Given the description of an element on the screen output the (x, y) to click on. 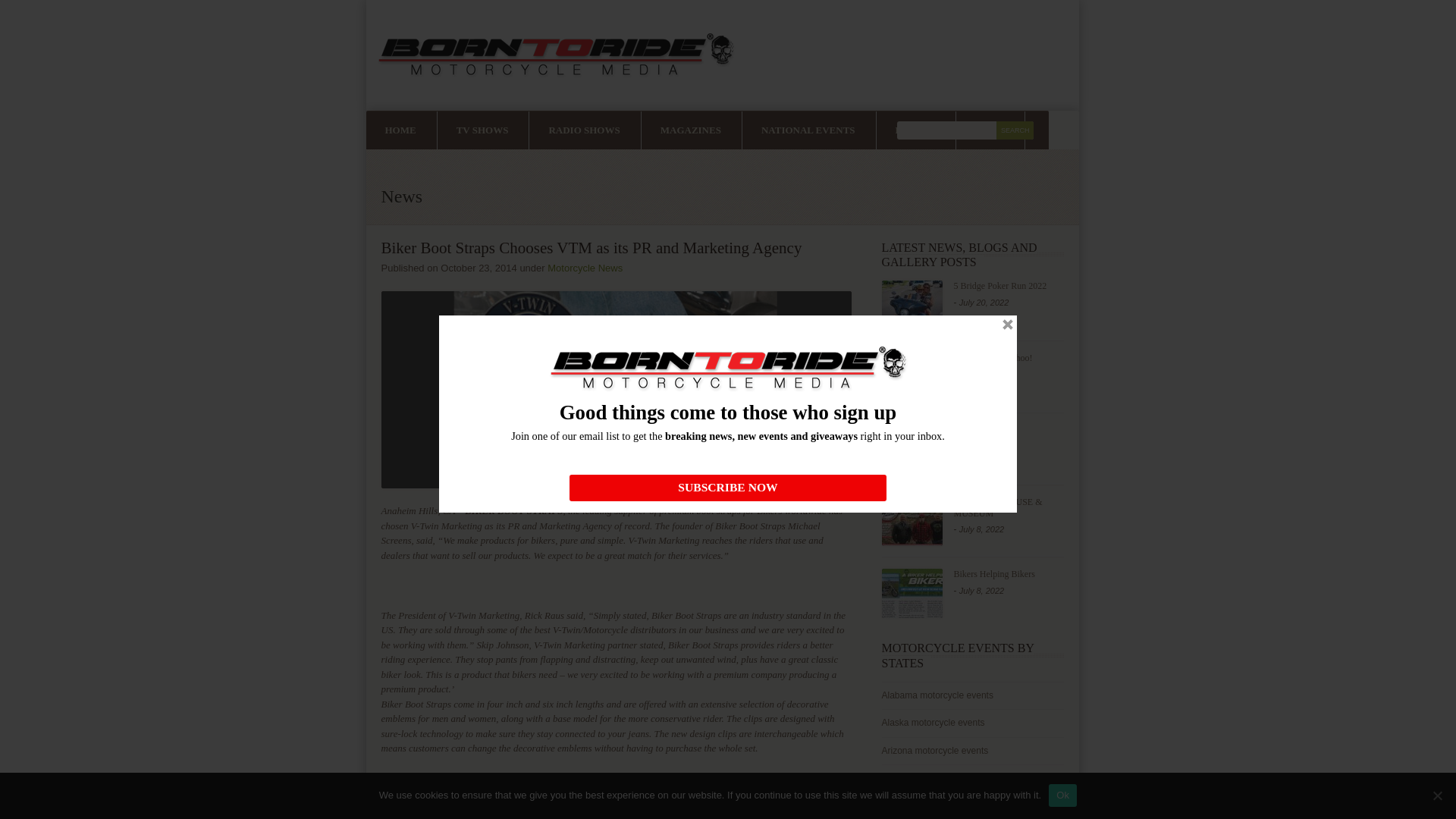
Bike Night Ballyhoo! (911, 377)
5 Bridge Poker Run 2022 (999, 285)
NATIONAL EVENTS (808, 130)
AmeriCAN (911, 449)
EVENTS (914, 130)
National, Florida and Georgia Motorcycle events (914, 130)
BUSINESSES (495, 168)
Motorcycle News (585, 267)
Born To Ride Motorcycle TV show (482, 130)
Biker Boot Straps Chooses VTM as its PR and Marketing Agency (615, 389)
TV SHOWS (482, 130)
RADIO SHOWS (584, 130)
5 Bridge Poker Run 2022 (911, 305)
HOME (399, 130)
Bike Night Ballyhoo! (992, 357)
